Given the description of an element on the screen output the (x, y) to click on. 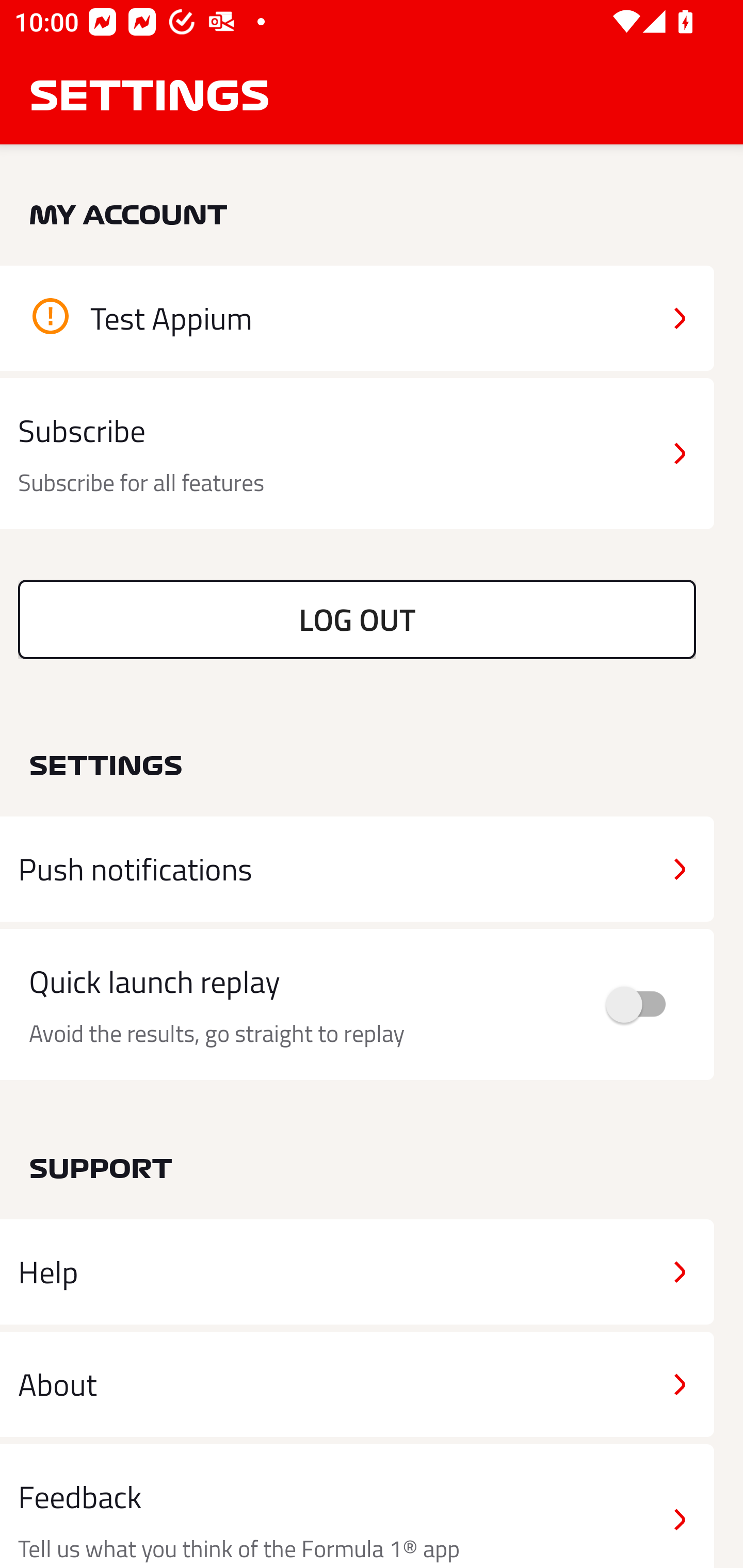
Test Appium (357, 317)
Subscribe Subscribe for all features (357, 453)
LOG OUT (356, 619)
Push notifications (357, 868)
Help (357, 1271)
About (357, 1383)
